Given the description of an element on the screen output the (x, y) to click on. 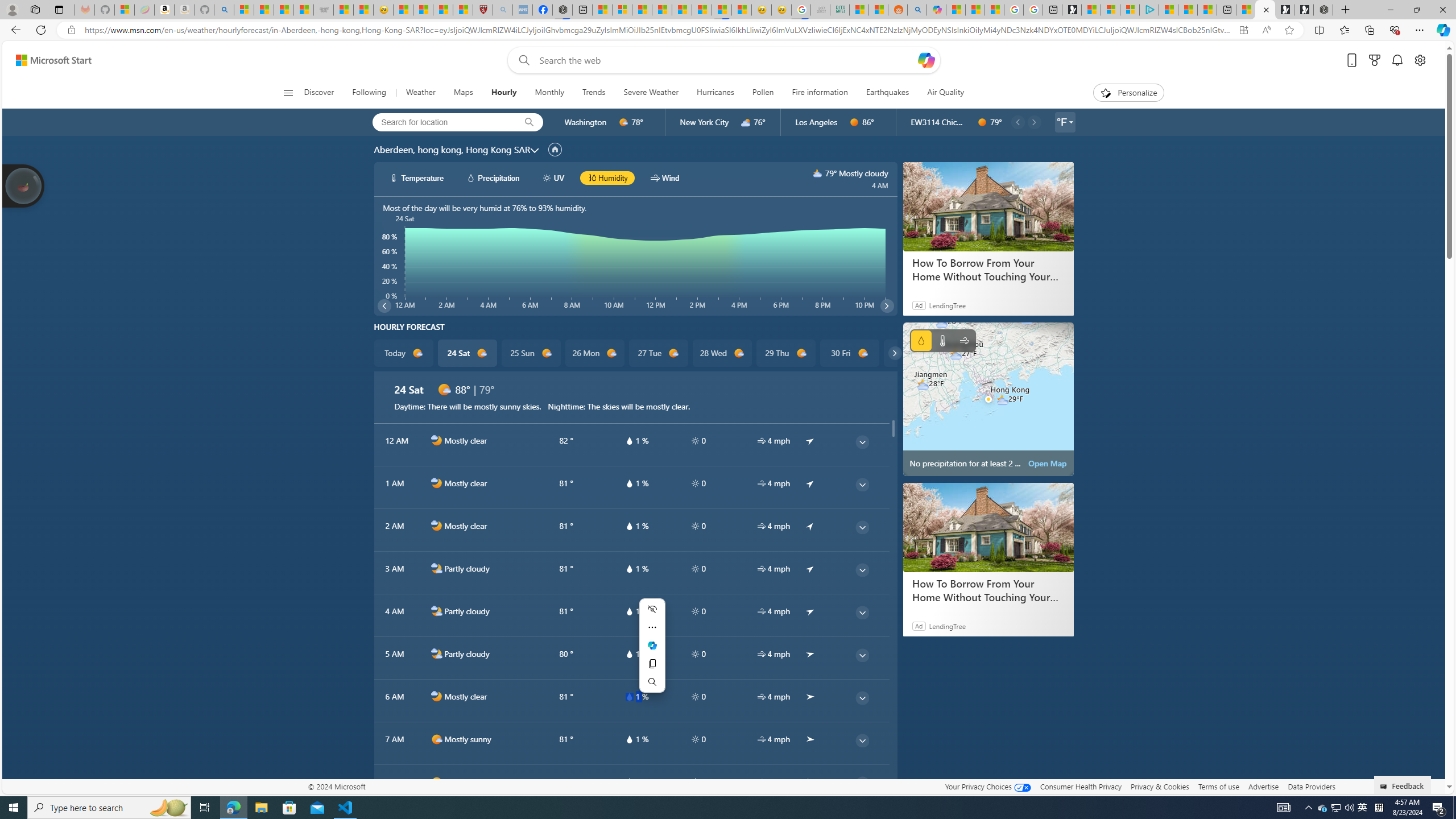
d1000 (436, 781)
Join us in planting real trees to help our planet! (23, 185)
Wind (964, 340)
